Given the description of an element on the screen output the (x, y) to click on. 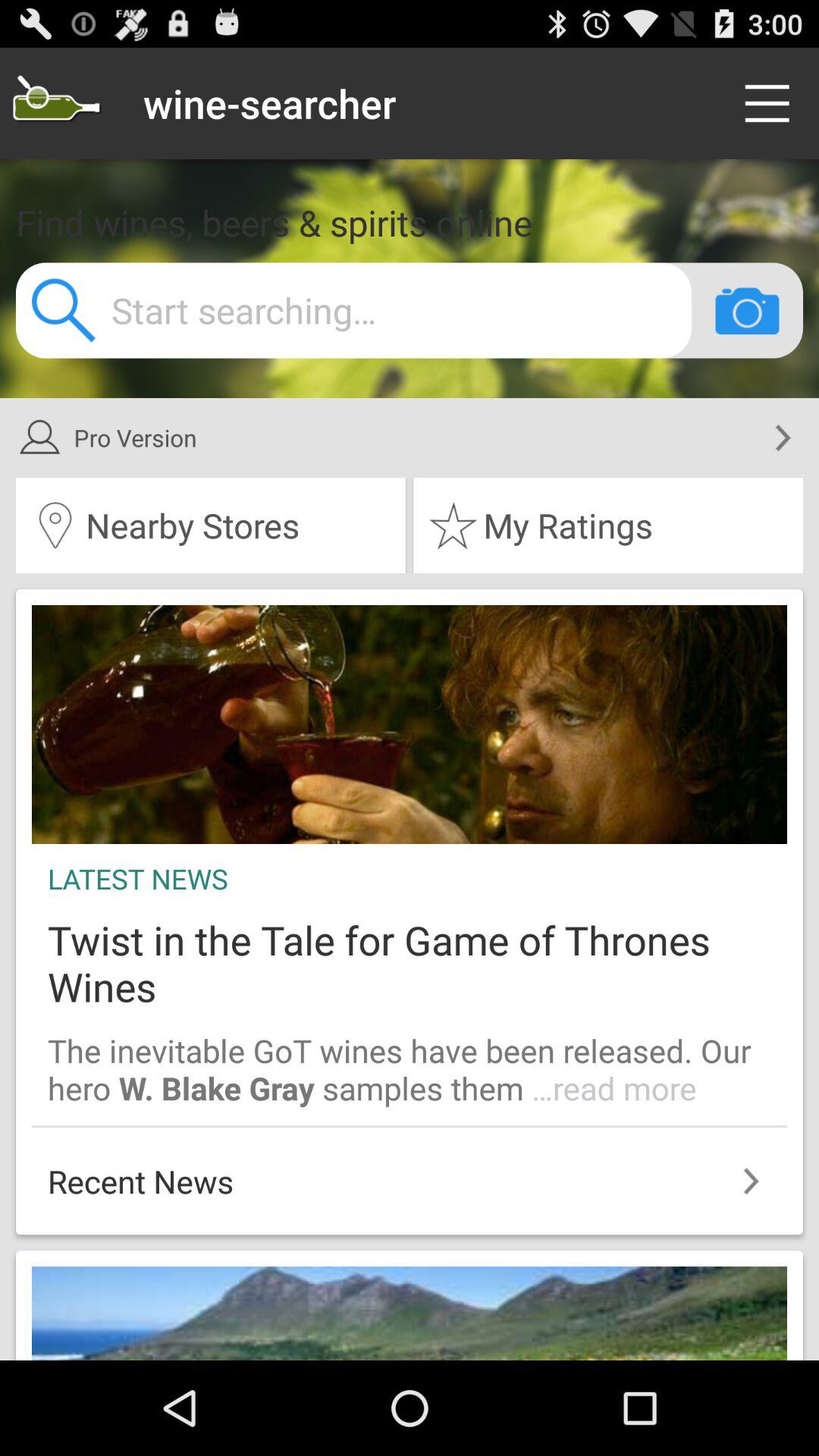
choose pro version item (389, 437)
